Given the description of an element on the screen output the (x, y) to click on. 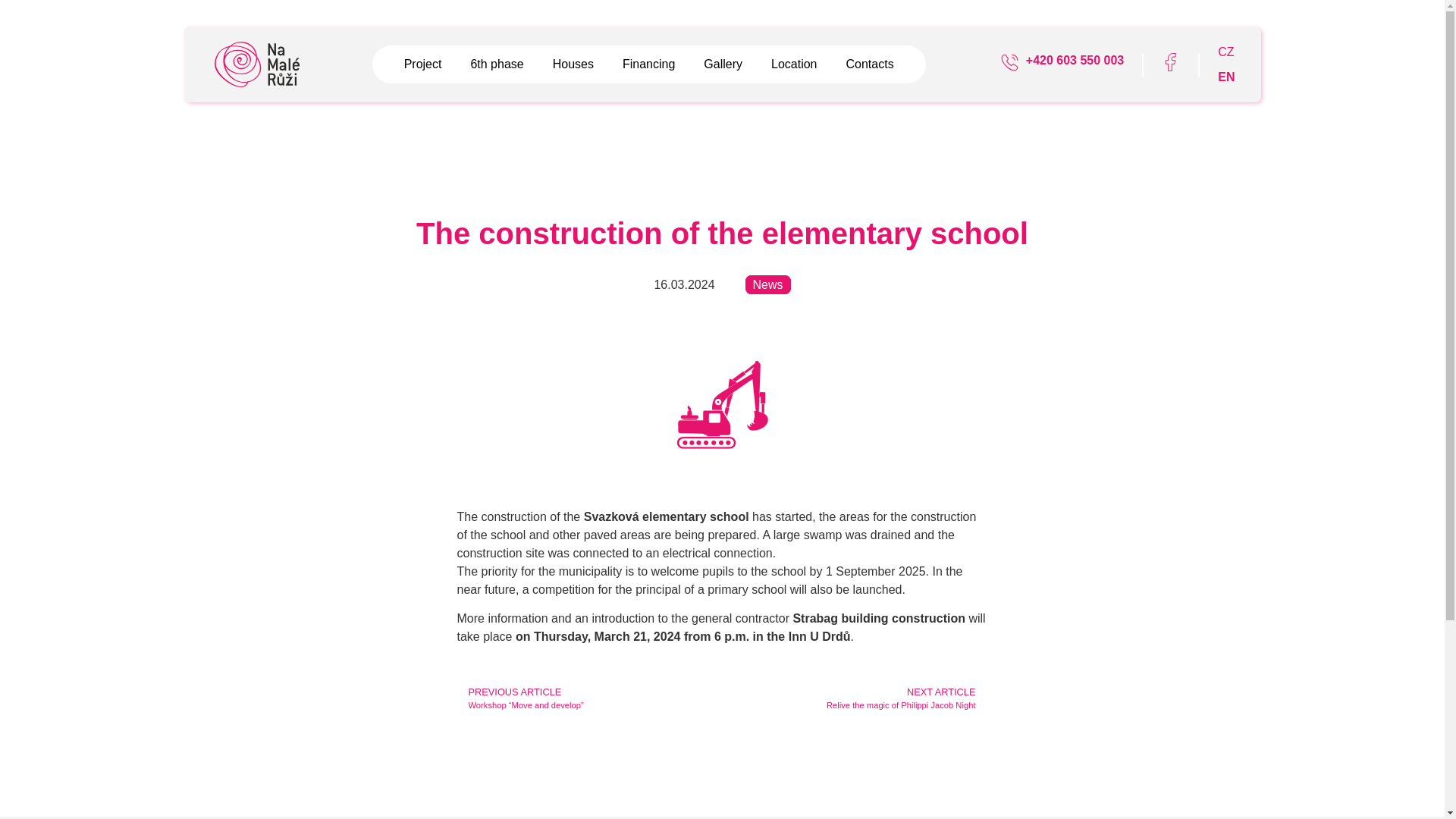
EN (1225, 77)
Contacts (869, 64)
6th phase (496, 64)
Location (793, 64)
News (767, 284)
Houses (573, 64)
CZ (1225, 51)
Gallery (854, 697)
Financing (722, 64)
Project (649, 64)
